Given the description of an element on the screen output the (x, y) to click on. 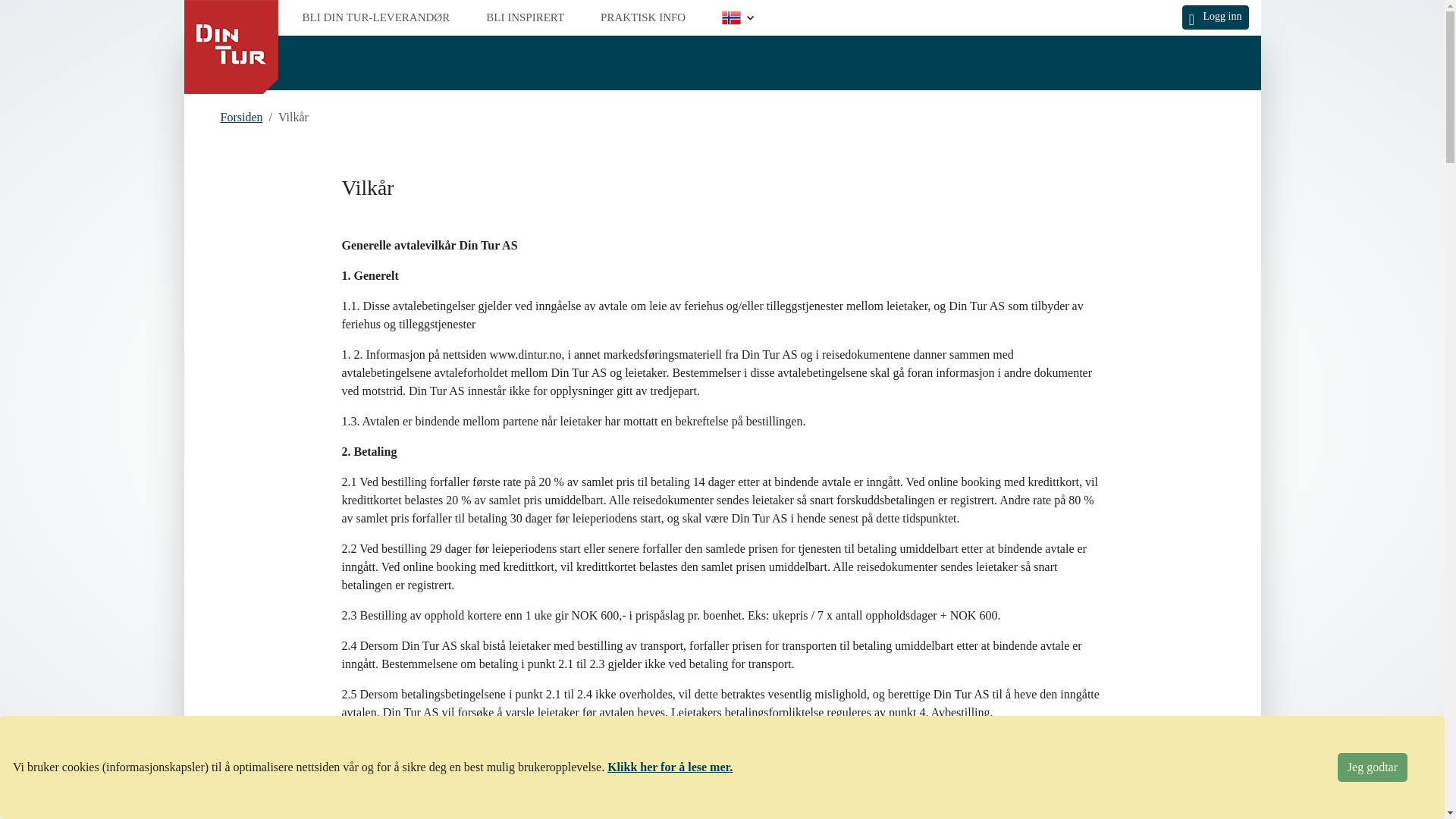
PRAKTISK INFO (642, 17)
Select language (738, 17)
Logg inn (1215, 16)
BLI INSPIRERT (525, 17)
Forsiden (240, 116)
